Given the description of an element on the screen output the (x, y) to click on. 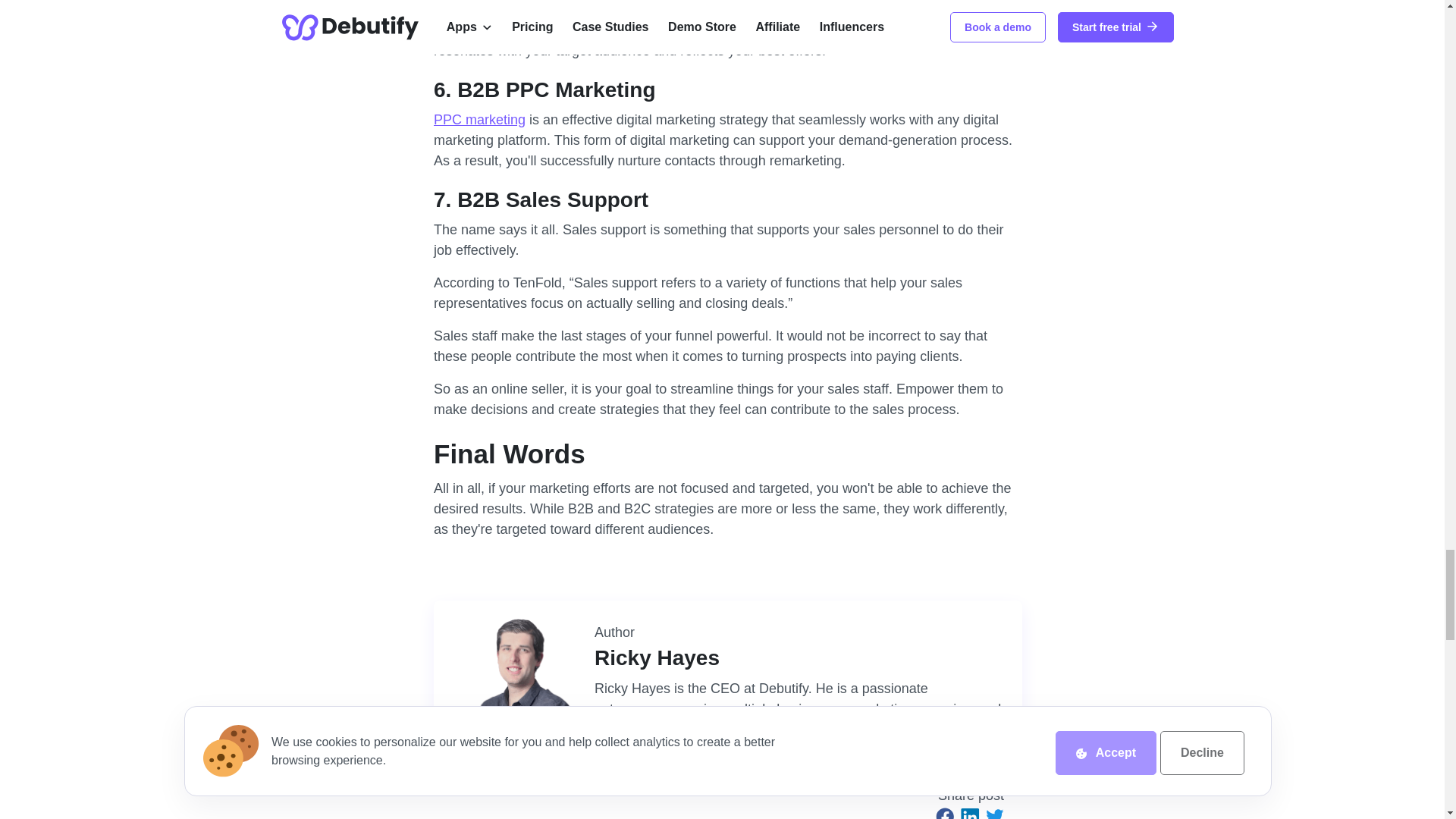
PPC marketing (479, 119)
your content marketing strategy (563, 2)
